Given the description of an element on the screen output the (x, y) to click on. 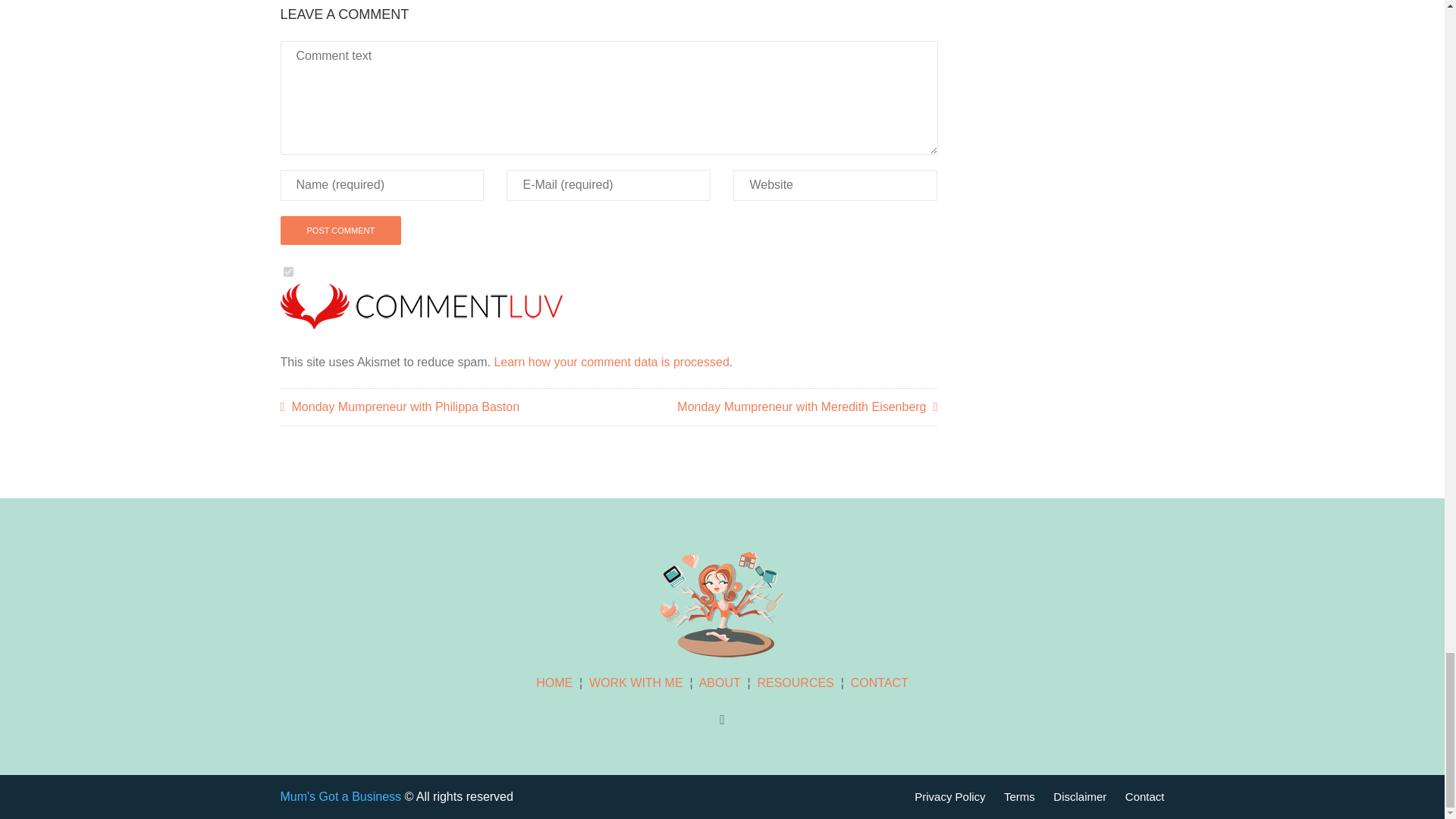
on (288, 271)
Facebook (721, 719)
Post comment (341, 230)
